Given the description of an element on the screen output the (x, y) to click on. 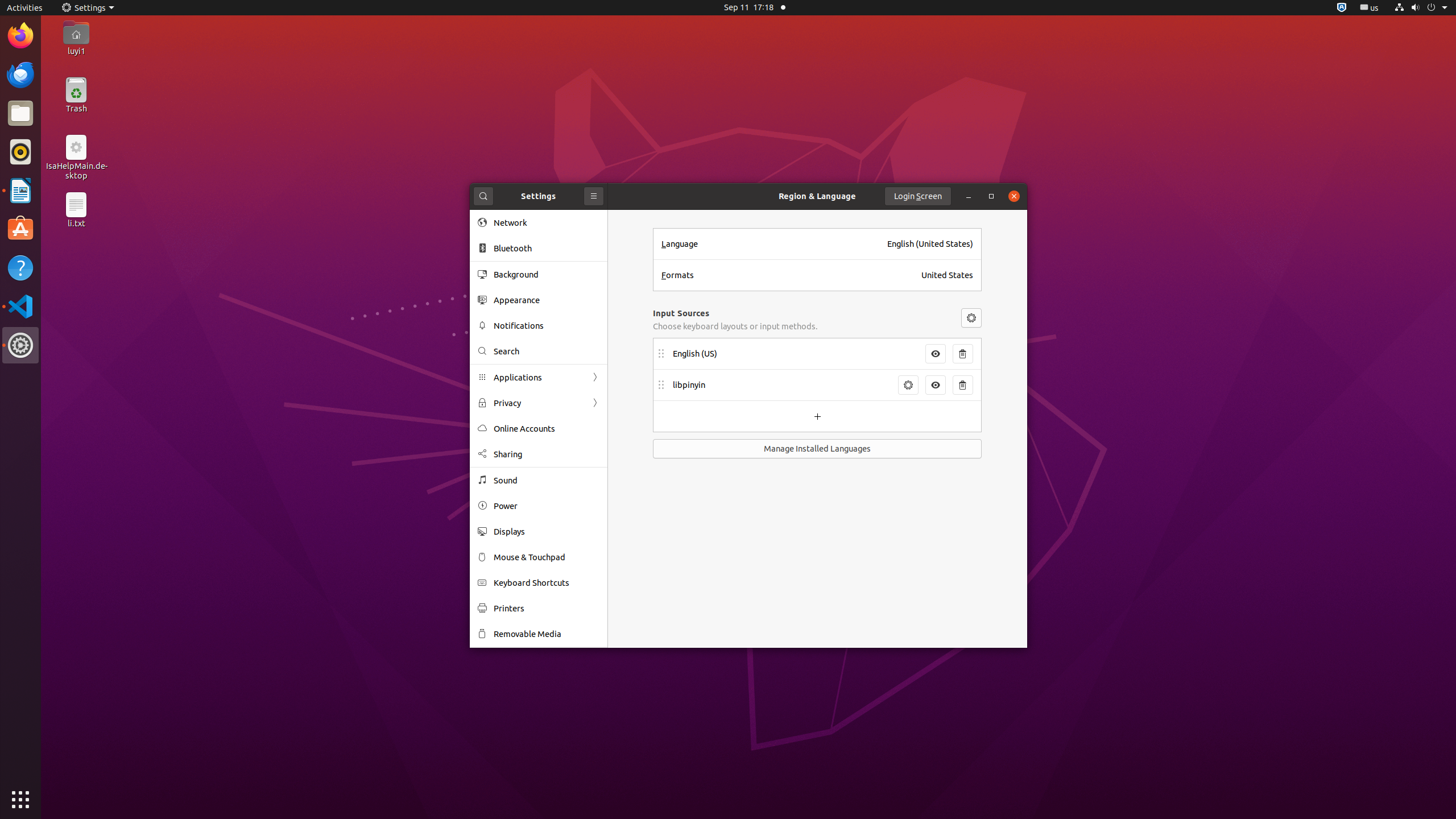
Primary Menu Element type: toggle-button (593, 196)
:1.72/StatusNotifierItem Element type: menu (1341, 7)
Forward Element type: icon (594, 402)
Thunderbird Mail Element type: push-button (20, 74)
System Element type: menu (1420, 7)
